Given the description of an element on the screen output the (x, y) to click on. 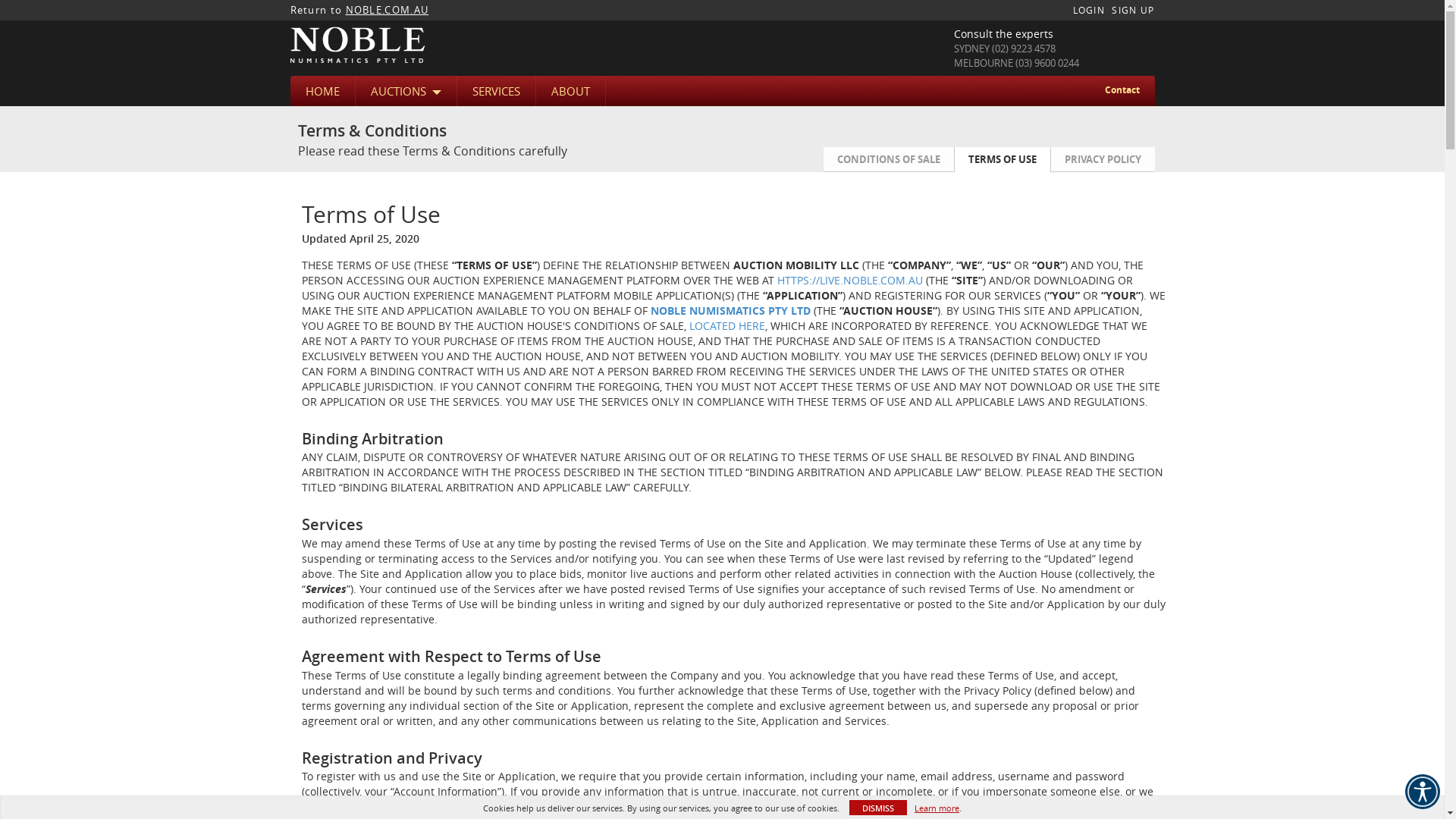
LOCATED HERE Element type: text (726, 325)
SERVICES Element type: text (495, 90)
AUCTIONS Element type: text (404, 90)
HTTPS://LIVE.NOBLE.COM.AU Element type: text (849, 280)
TERMS OF USE Element type: text (1001, 159)
Contact Element type: text (1121, 89)
ABOUT Element type: text (569, 90)
DISMISS Element type: text (877, 807)
Learn more Element type: text (936, 807)
PRIVACY POLICY Element type: text (1101, 159)
NOBLE.COM.AU Element type: text (387, 9)
NOBLE NUMISMATICS PTY LTD Element type: text (730, 310)
LOGIN Element type: text (1089, 9)
SIGN UP Element type: text (1132, 9)
CONDITIONS OF SALE Element type: text (888, 159)
HOME Element type: text (321, 90)
